Given the description of an element on the screen output the (x, y) to click on. 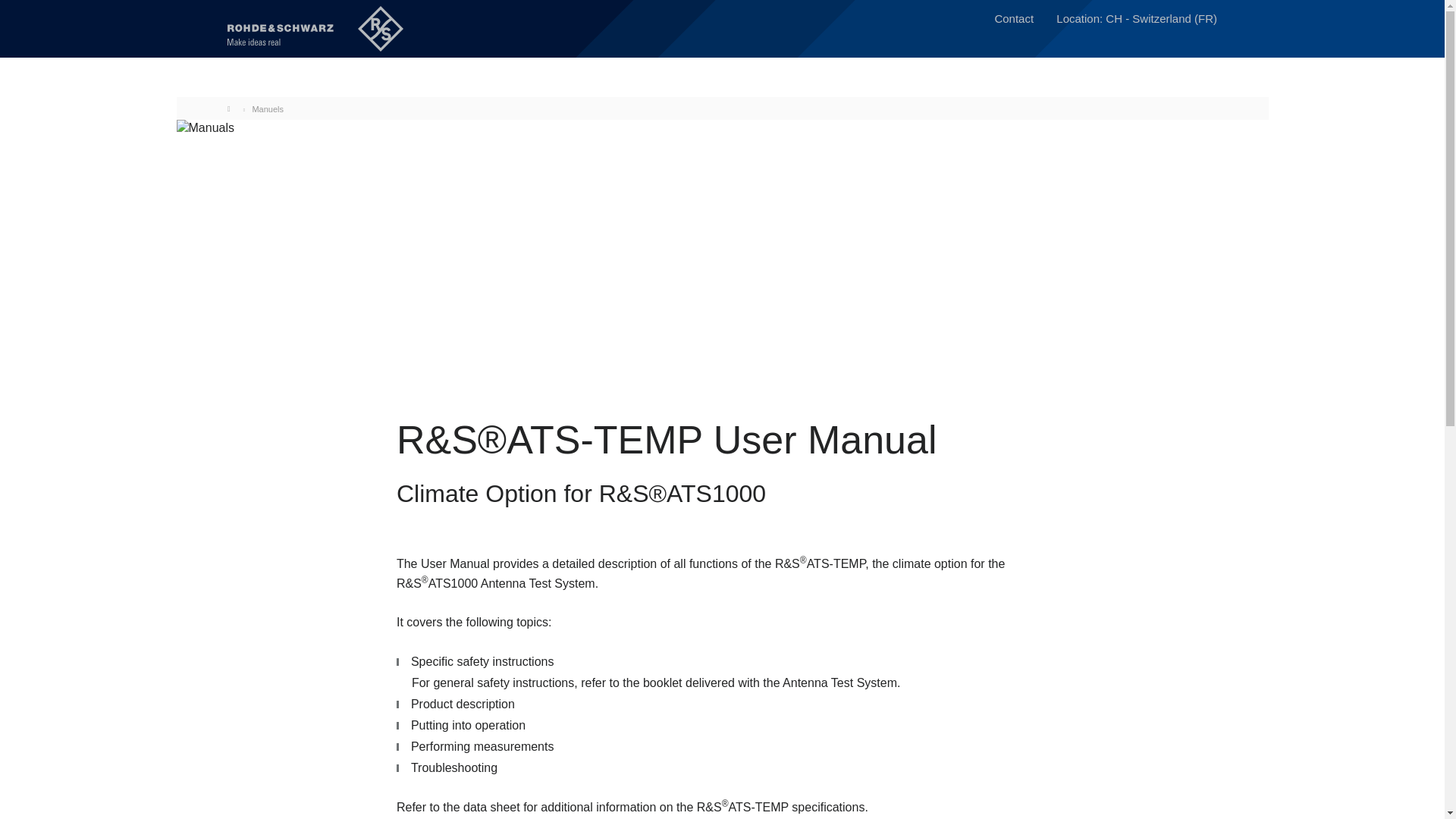
Contact (1013, 20)
Home (232, 108)
Manuels (267, 108)
